Given the description of an element on the screen output the (x, y) to click on. 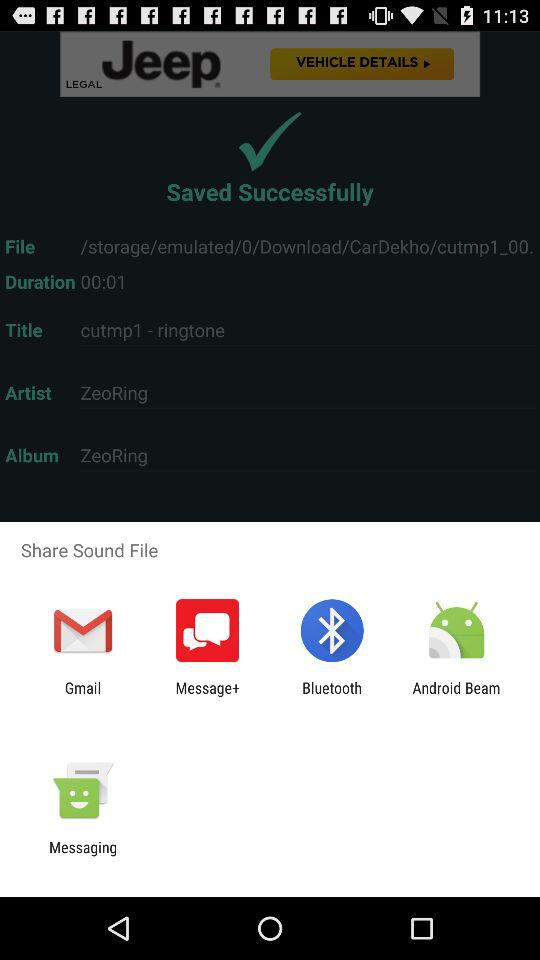
tap the bluetooth icon (331, 696)
